Given the description of an element on the screen output the (x, y) to click on. 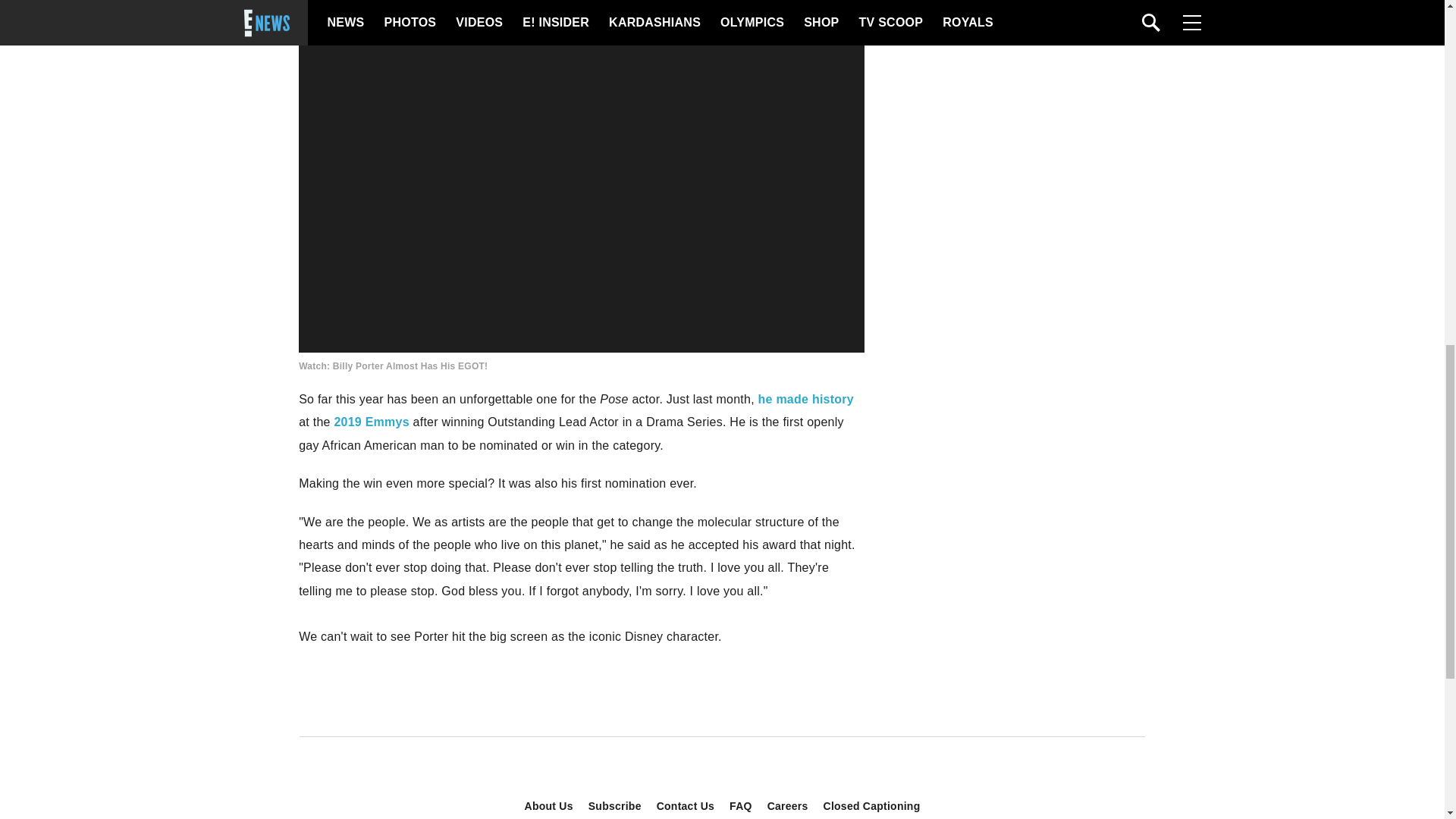
Subscribe (614, 806)
About Us (548, 806)
FAQ (741, 806)
he made history (805, 399)
Contact Us (685, 806)
2019 Emmys (371, 421)
